Given the description of an element on the screen output the (x, y) to click on. 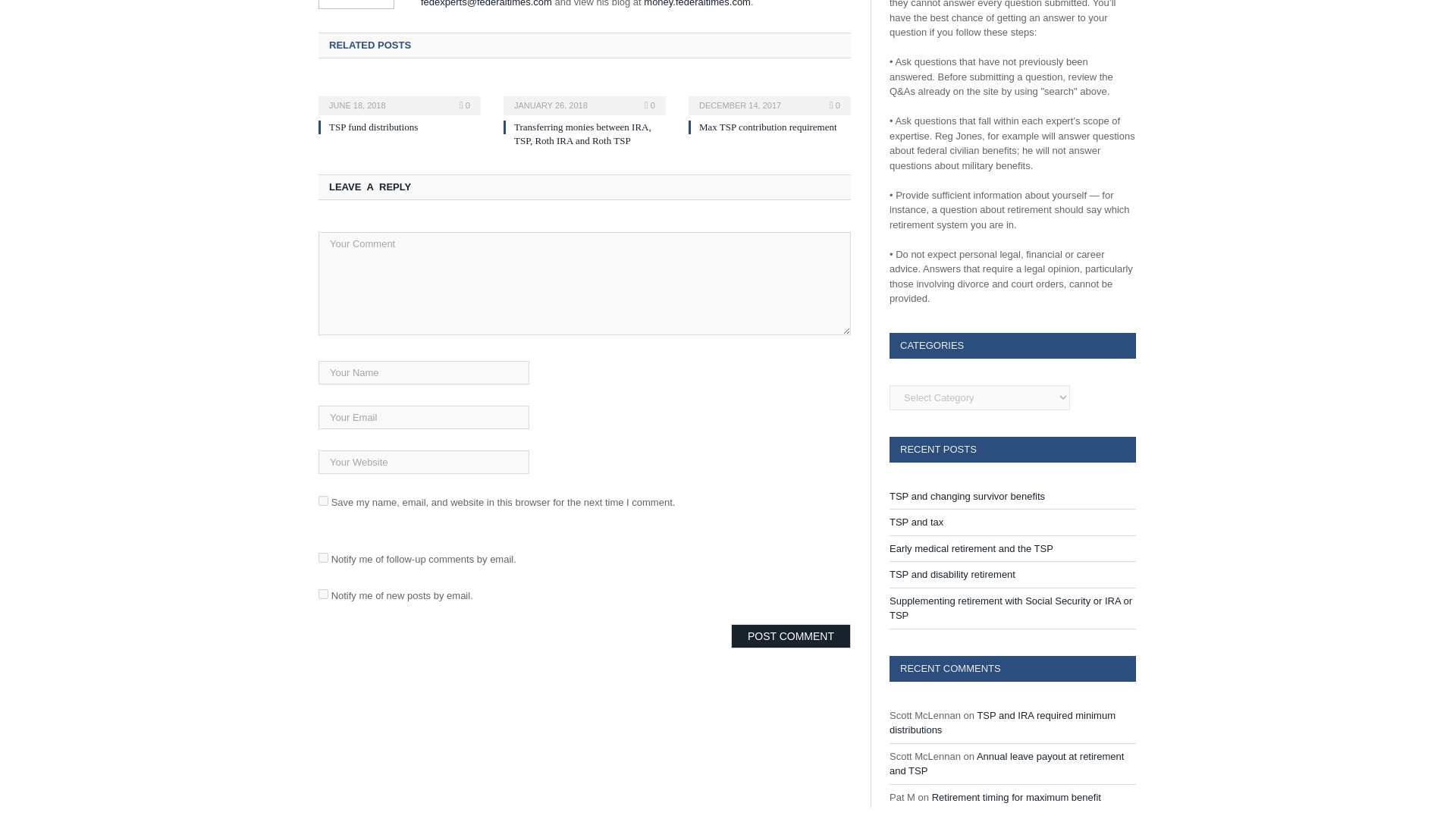
TSP fund distributions (373, 126)
Post Comment (790, 636)
subscribe (323, 557)
money.federaltimes.com (697, 3)
subscribe (323, 593)
yes (323, 501)
